Given the description of an element on the screen output the (x, y) to click on. 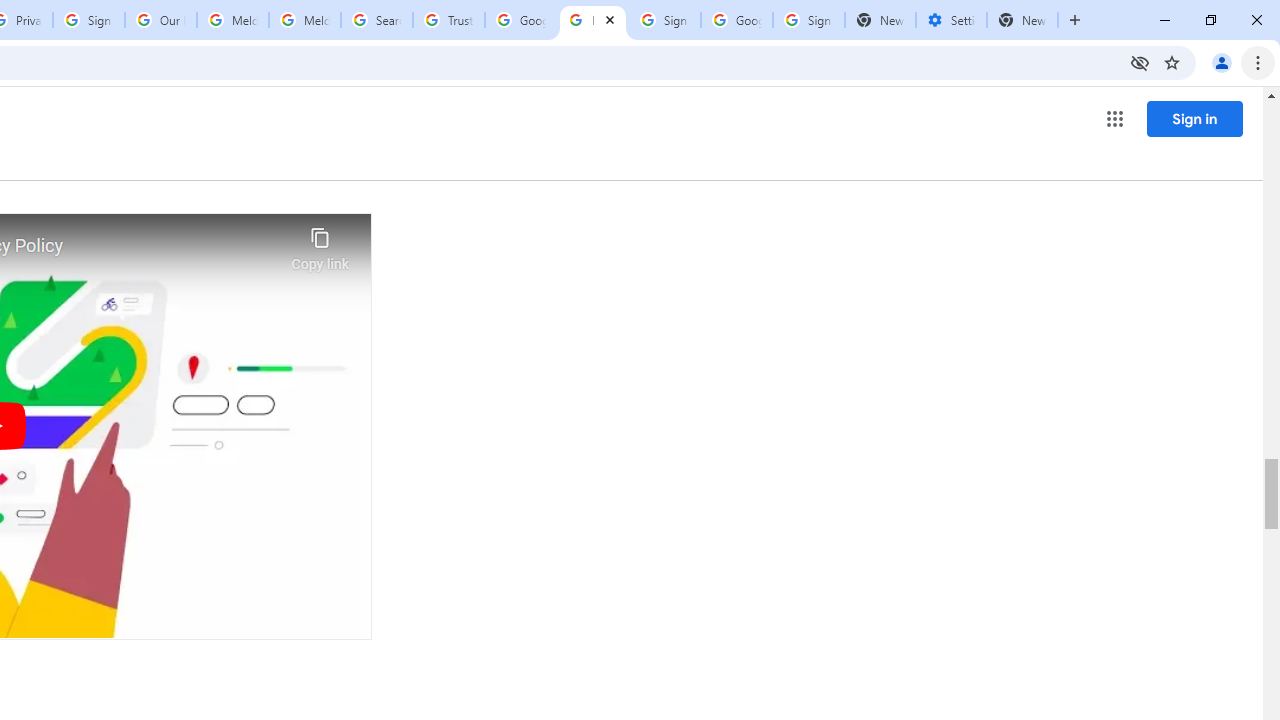
Settings - Addresses and more (951, 20)
Sign in - Google Accounts (808, 20)
Google Ads - Sign in (520, 20)
Search our Doodle Library Collection - Google Doodles (376, 20)
New Tab (1022, 20)
Google Cybersecurity Innovations - Google Safety Center (737, 20)
